Given the description of an element on the screen output the (x, y) to click on. 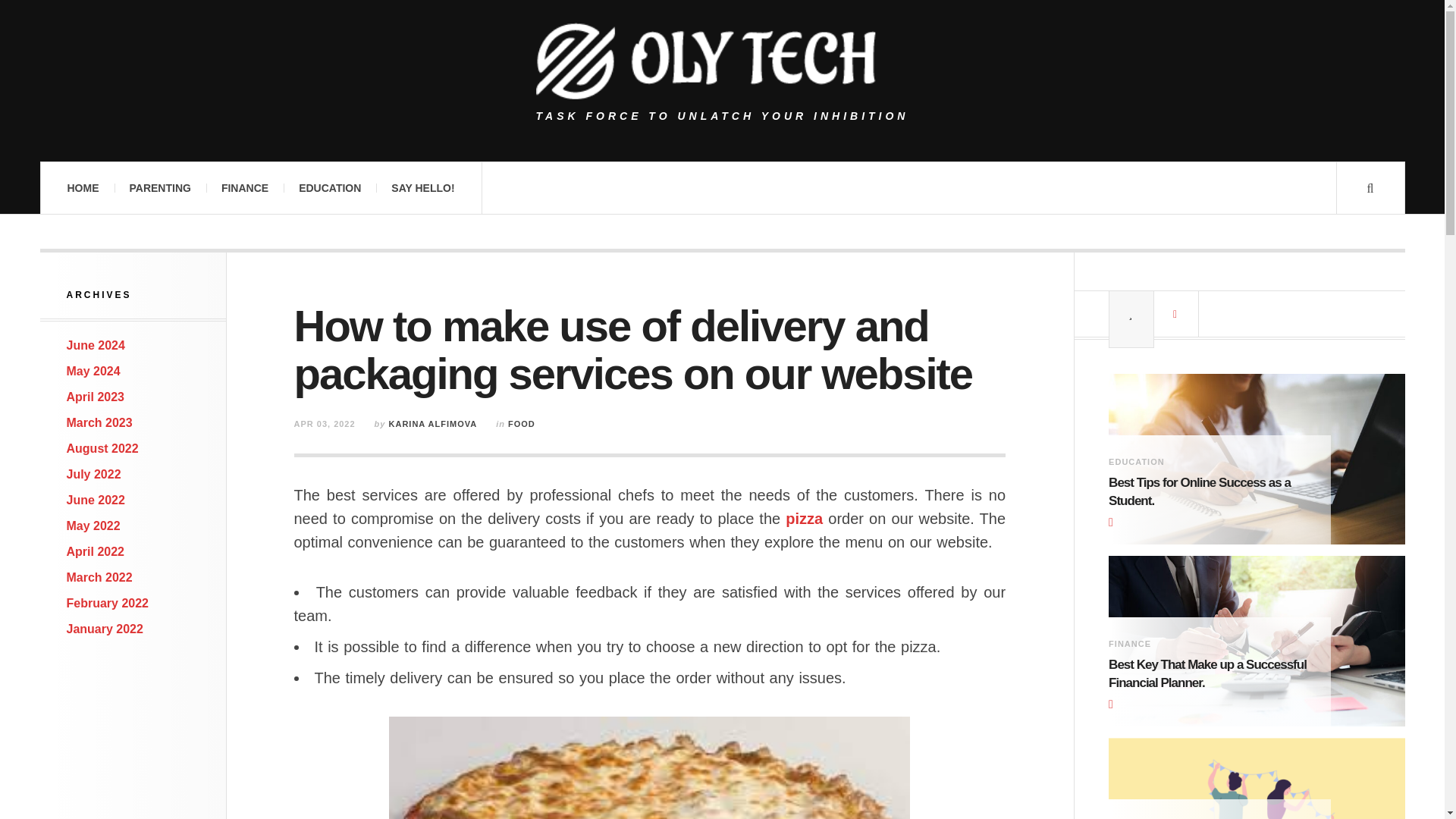
May 2022 (93, 525)
FINANCE (244, 187)
Featured Posts (1131, 313)
pizza (804, 518)
August 2022 (102, 448)
June 2024 (95, 345)
View all posts in food (521, 423)
March 2023 (99, 422)
July 2022 (93, 473)
EDUCATION (329, 187)
FOOD (521, 423)
Best Tips for Online Success as a Student.  (1207, 492)
May 2024 (93, 370)
FINANCE (1129, 643)
HOME (81, 187)
